Given the description of an element on the screen output the (x, y) to click on. 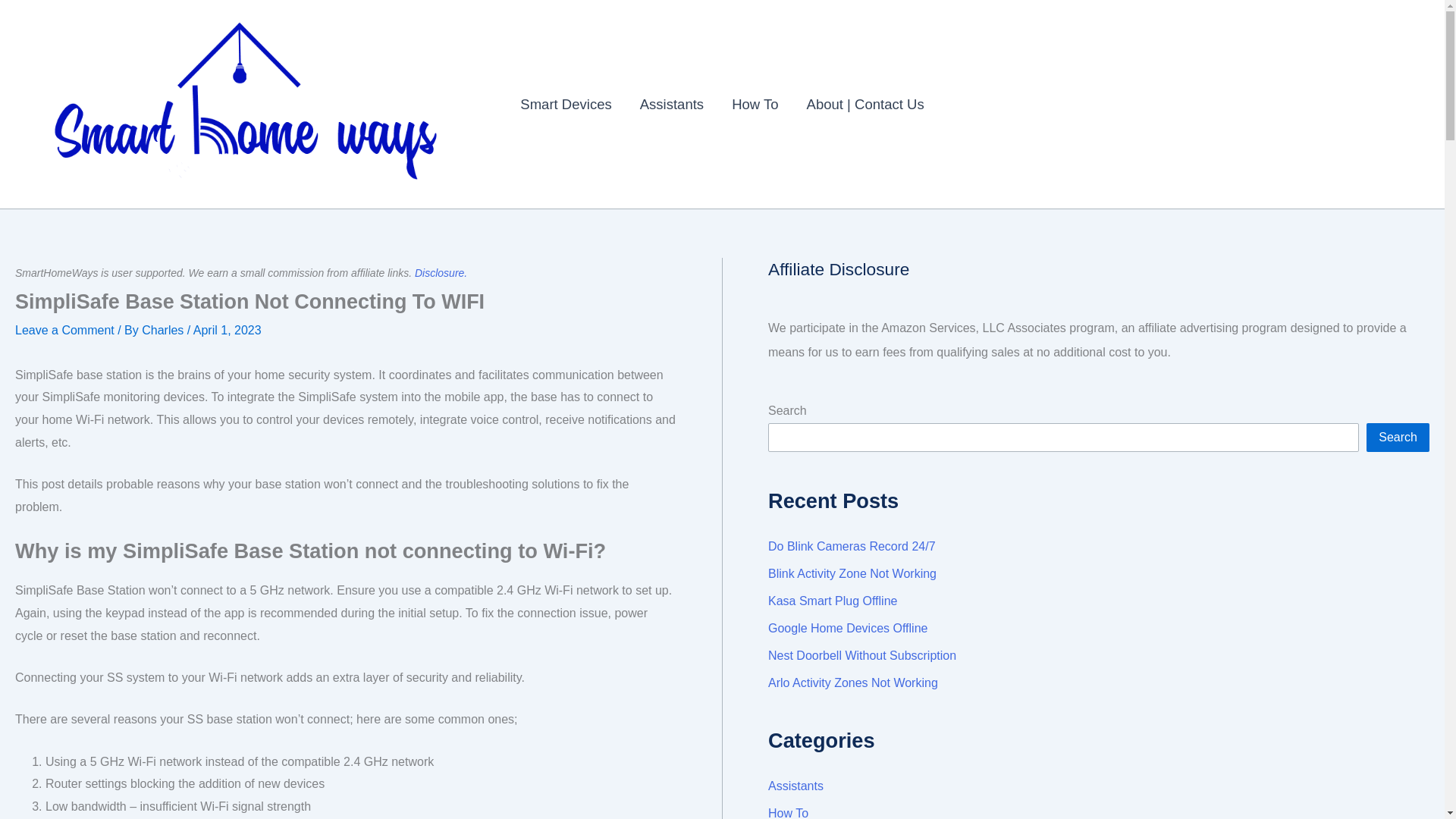
Assistants (671, 104)
View all posts by Charles (164, 329)
Disclosure. (440, 272)
Smart Devices (566, 104)
Leave a Comment (64, 329)
Charles (164, 329)
Search (1398, 437)
How To (754, 104)
